Given the description of an element on the screen output the (x, y) to click on. 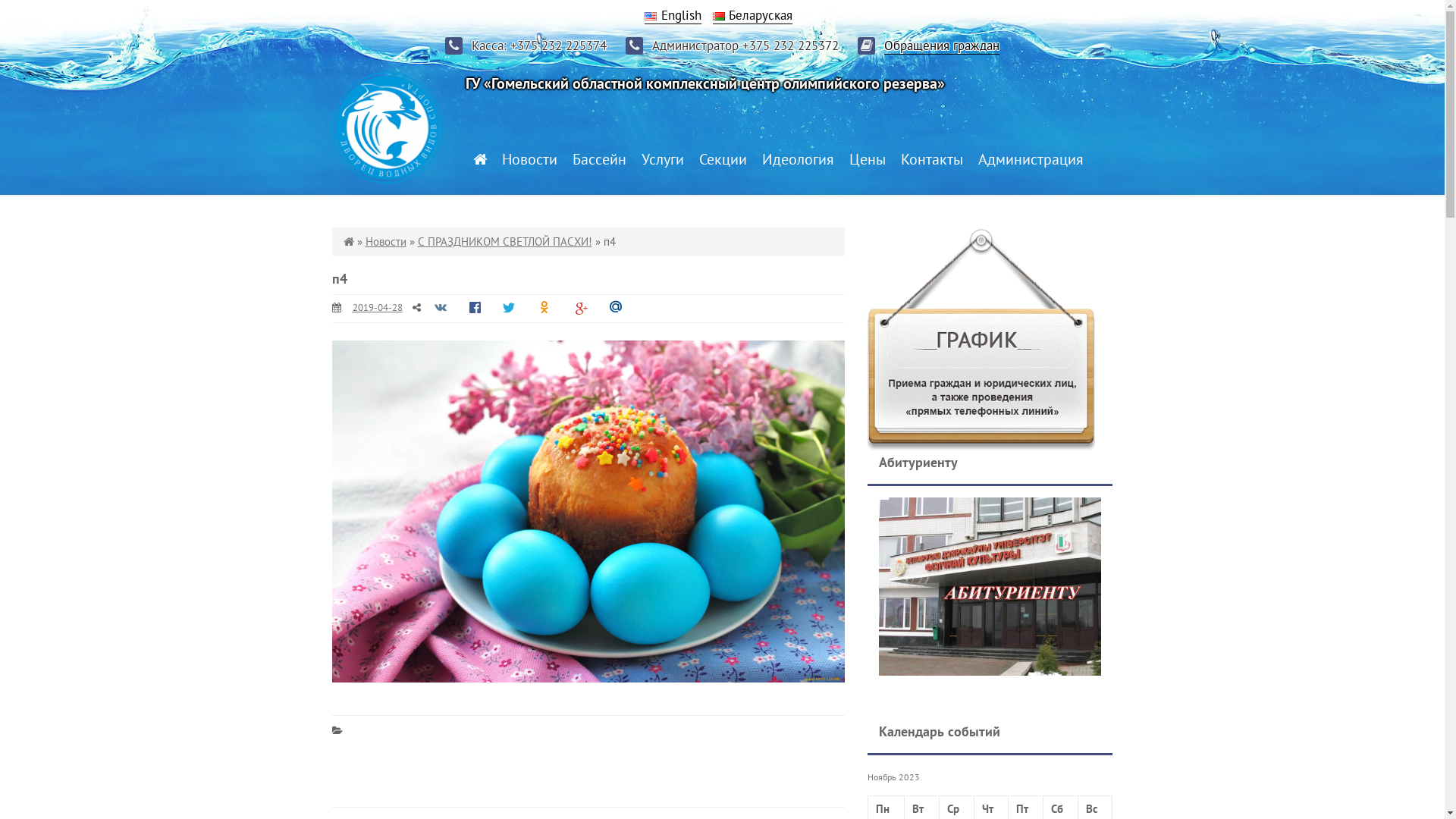
2019-04-28 Element type: text (376, 307)
English Element type: text (672, 15)
